Given the description of an element on the screen output the (x, y) to click on. 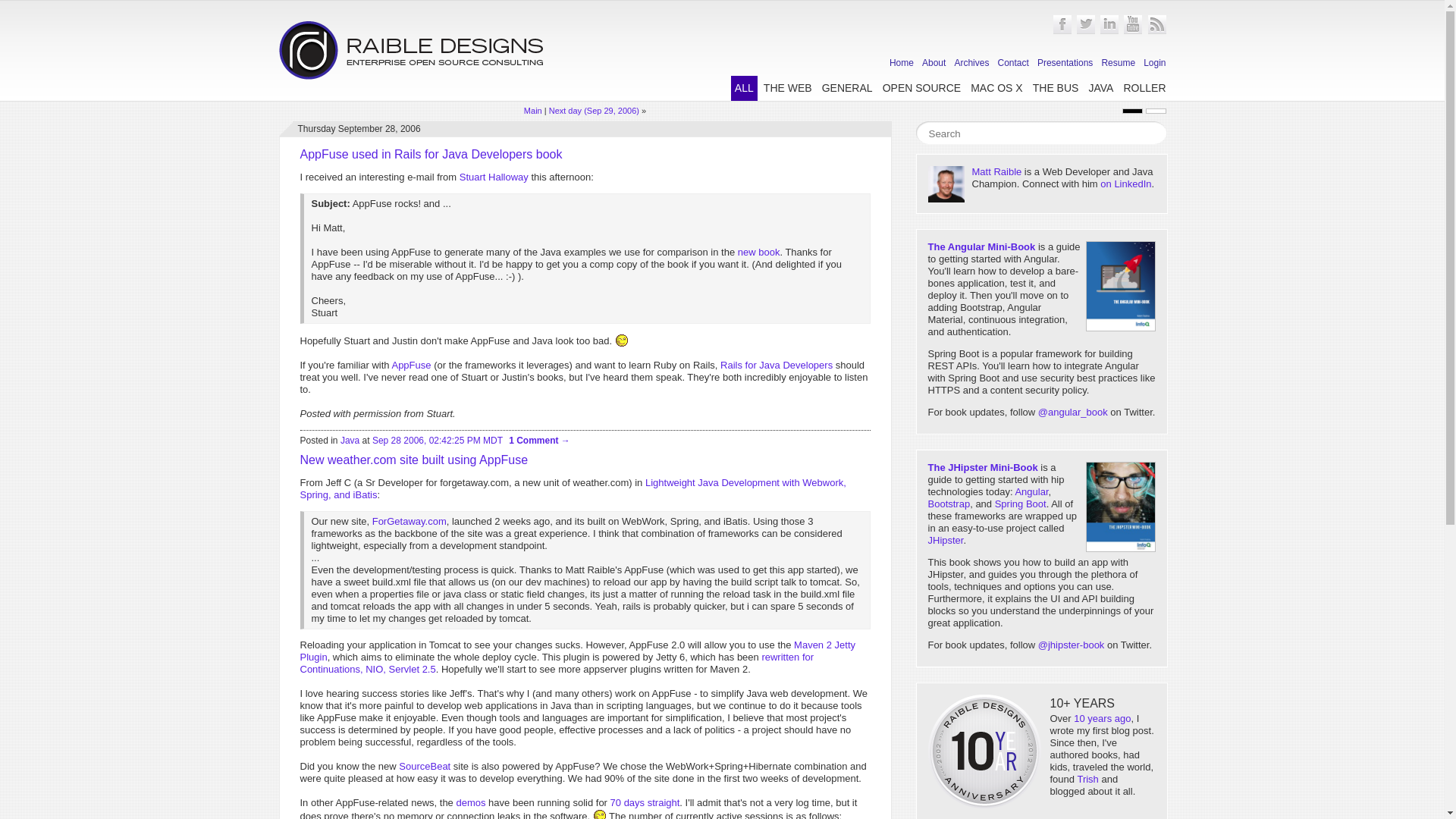
Facebook (1061, 31)
JAVA (1100, 88)
10 years ago (1102, 717)
ROLLER (1144, 88)
LinkedIn (1109, 31)
Archives (970, 62)
Bootstrap (949, 503)
on LinkedIn (1125, 183)
THE BUS (1056, 88)
JHipster (945, 540)
Home (901, 62)
ALL (743, 88)
Twitter (1085, 31)
Trish (1087, 778)
Contact (1013, 62)
